Given the description of an element on the screen output the (x, y) to click on. 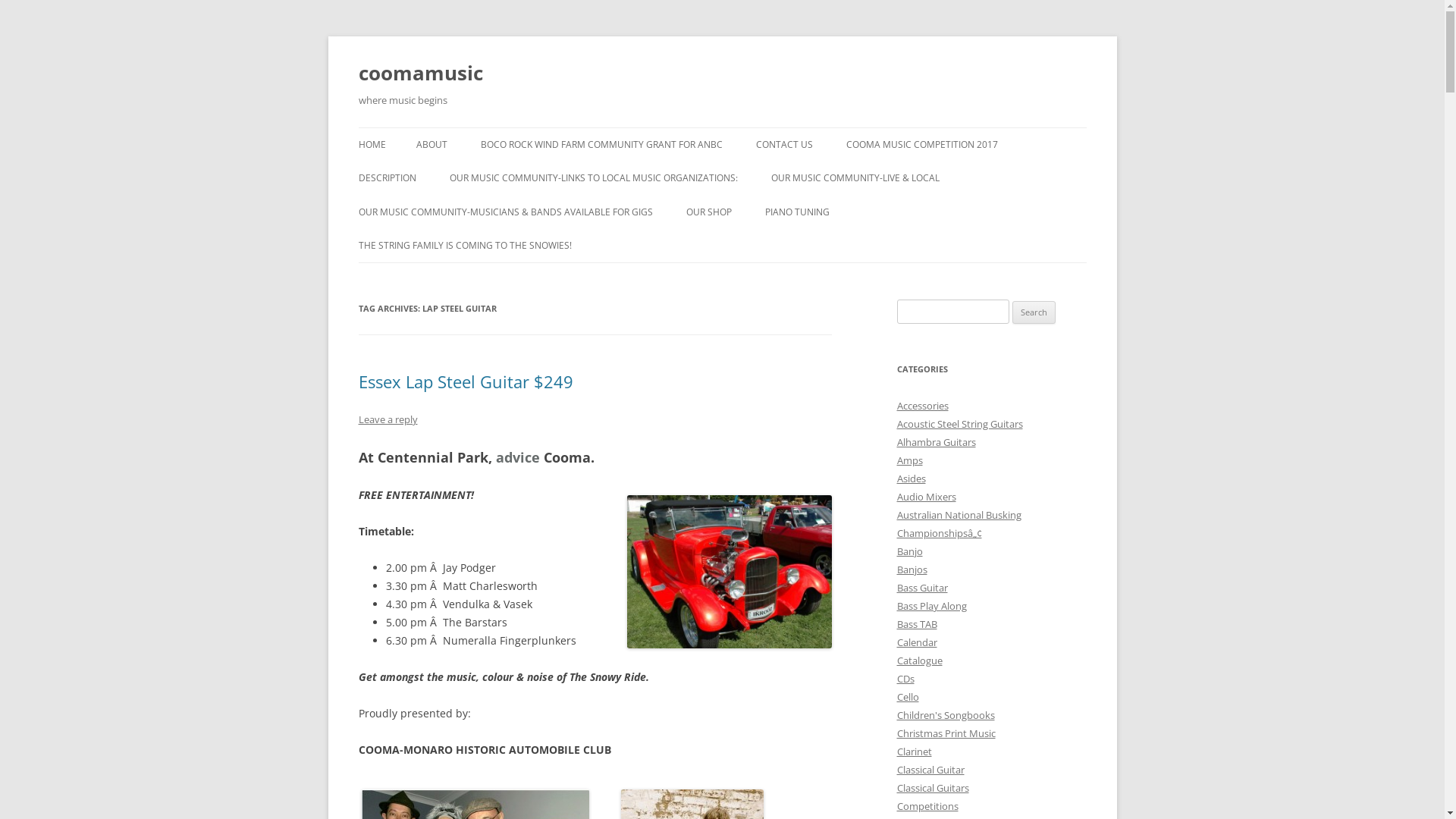
Bass TAB Element type: text (916, 623)
Asides Element type: text (910, 478)
Bass Play Along Element type: text (931, 605)
Acoustic Steel String Guitars Element type: text (959, 423)
Alhambra Guitars Element type: text (935, 441)
Leave a reply Element type: text (387, 419)
BOCO ROCK WIND FARM COMMUNITY GRANT FOR ANBC Element type: text (601, 144)
Calendar Element type: text (916, 642)
Children's Songbooks Element type: text (945, 714)
Christmas Print Music Element type: text (945, 733)
Essex Lap Steel Guitar $249 Element type: text (464, 381)
Bass Guitar Element type: text (921, 587)
CDs Element type: text (904, 678)
Amps Element type: text (909, 460)
ACCESSORIES Element type: text (761, 244)
OUR MUSIC COMMUNITY-LINKS TO LOCAL MUSIC ORGANIZATIONS: Element type: text (592, 177)
Classical Guitar Element type: text (929, 769)
Search Element type: text (1033, 312)
Cello Element type: text (907, 696)
coomamusic Element type: text (419, 72)
COOMA MUSIC COMPETITION 2017 Element type: text (921, 144)
Banjos Element type: text (911, 569)
HOME Element type: text (371, 144)
OUR MUSIC COMMUNITY-MUSICIANS & BANDS AVAILABLE FOR GIGS Element type: text (504, 212)
Competitions Element type: text (926, 805)
Clarinet Element type: text (913, 751)
ABOUT Element type: text (430, 144)
COOMA DISTRICT BAND Element type: text (846, 210)
THE STRING FAMILY IS COMING TO THE SNOWIES! Element type: text (464, 245)
OUR MUSIC COMMUNITY-LIVE & LOCAL Element type: text (854, 177)
Motorfest Element type: hover (729, 571)
CONTACT US Element type: text (783, 144)
advice Element type: text (517, 457)
Accessories Element type: text (921, 405)
PIANO TUNING Element type: text (796, 212)
COOMA MUSIC COMPETITION 2010 Element type: text (491, 185)
Audio Mixers Element type: text (925, 496)
Skip to content Element type: text (721, 127)
Classical Guitars Element type: text (932, 787)
DESCRIPTION Element type: text (386, 177)
OUR SHOP Element type: text (708, 212)
Banjo Element type: text (909, 551)
Catalogue Element type: text (918, 660)
